Given the description of an element on the screen output the (x, y) to click on. 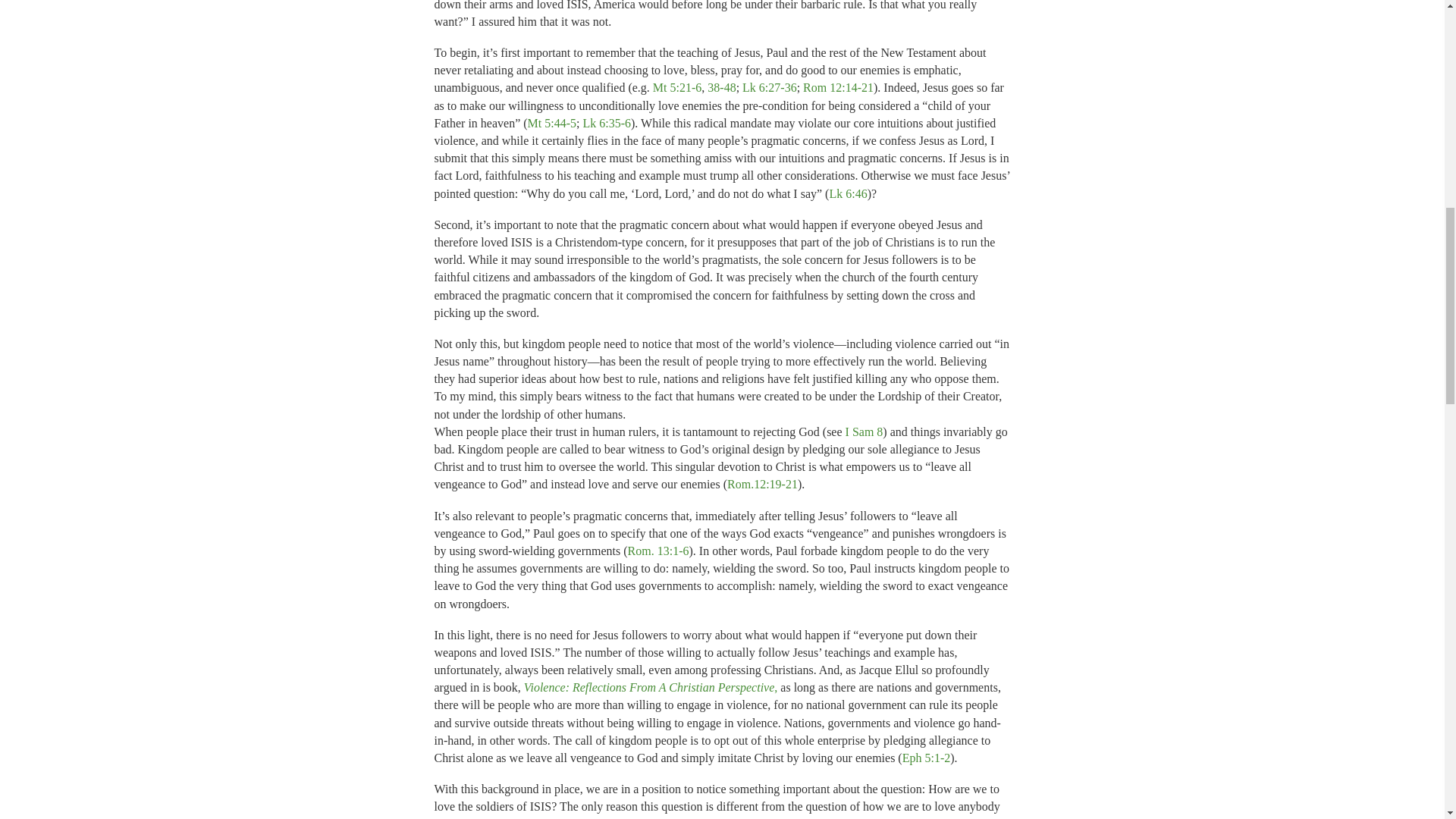
Rom 12:14-21 (838, 87)
Rom.12:19-21 (761, 483)
Violence: Reflections From A Christian Perspective, (650, 686)
Mt 5:44-5 (551, 123)
Lk 6:46 (847, 193)
I Sam 8 (864, 431)
Eph 5:1-2 (926, 757)
38-48 (721, 87)
Lk 6:35-6 (606, 123)
Mt 5:21-6 (676, 87)
Lk 6:27-36 (769, 87)
Rom. 13:1-6 (657, 550)
